Given the description of an element on the screen output the (x, y) to click on. 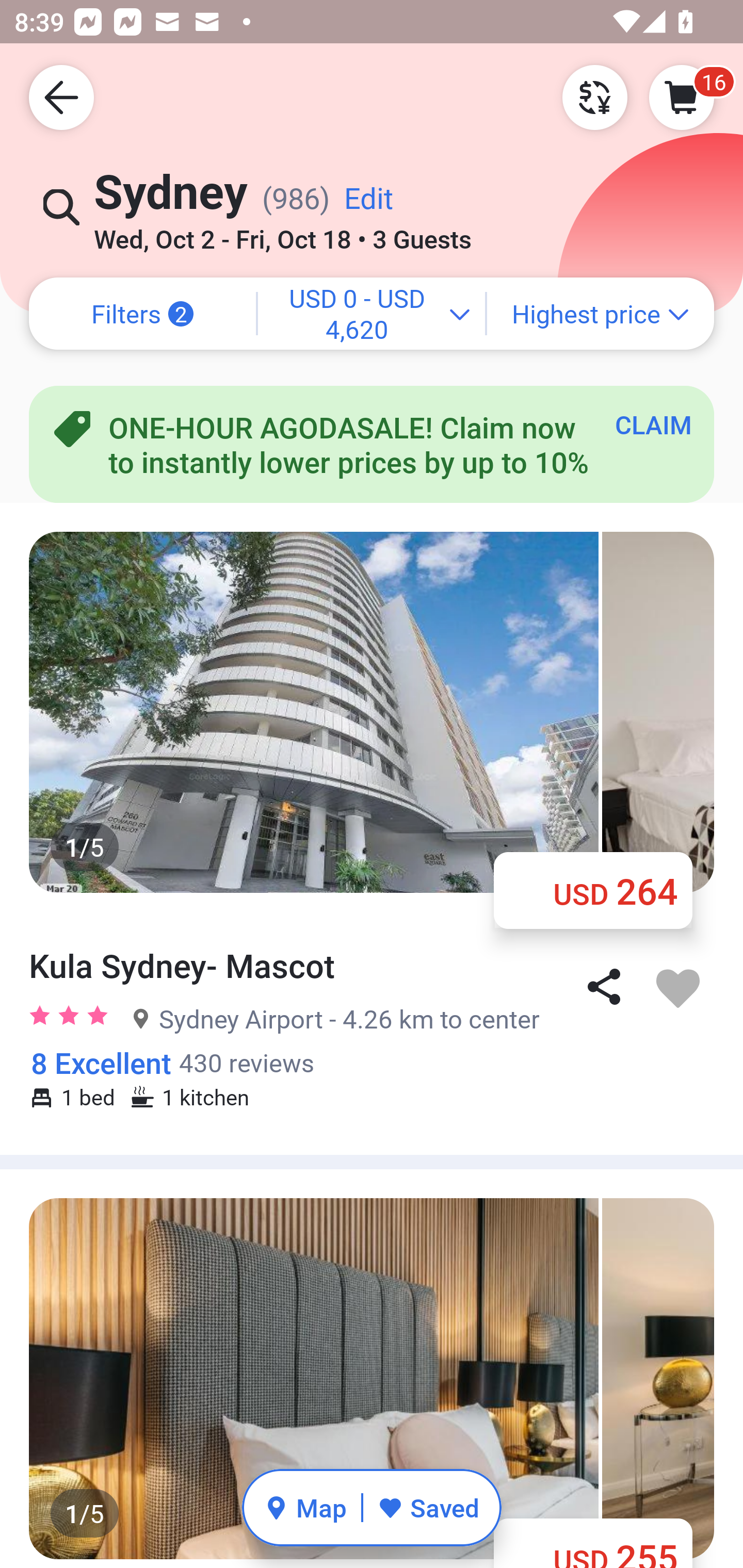
Filters 2 (141, 313)
⁦USD 0⁩ - ⁦USD 4,620⁩ (371, 313)
Highest price (600, 313)
CLAIM (653, 424)
1/5 (371, 711)
‪USD 264 (593, 890)
1/5 (371, 1377)
Map (305, 1507)
Saved (428, 1507)
‪USD 255 (593, 1540)
